Given the description of an element on the screen output the (x, y) to click on. 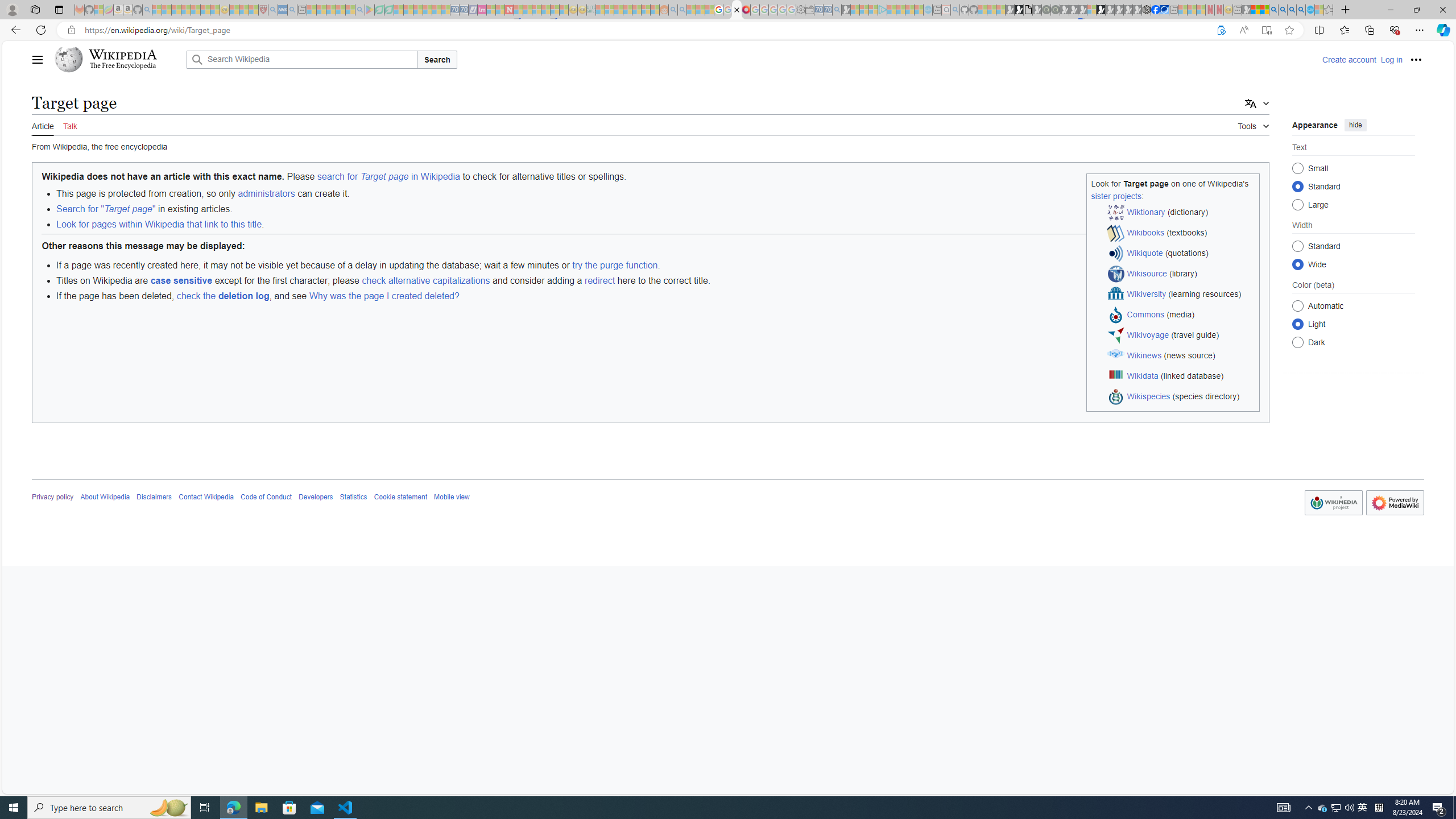
administrators (266, 194)
Mobile view (451, 497)
check the deletion log (222, 296)
Developers (315, 497)
Developers (315, 496)
Disclaimers (153, 497)
Target page - Wikipedia (736, 9)
